Given the description of an element on the screen output the (x, y) to click on. 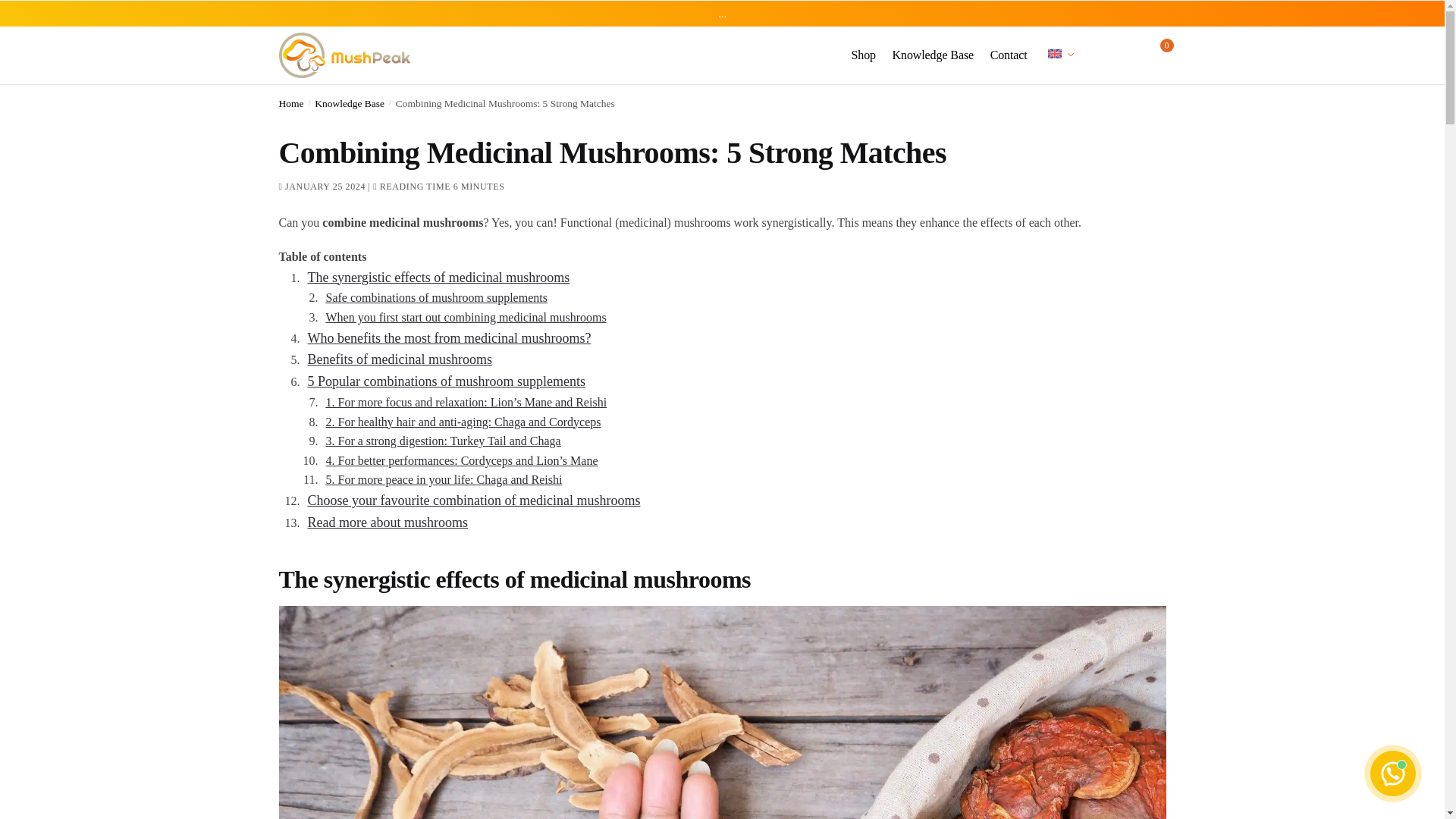
Safe combinations of mushroom supplements (436, 297)
Who benefits the most from medicinal mushrooms? (449, 337)
Knowledge Base (932, 54)
Home (291, 102)
5 Popular combinations of mushroom supplements (446, 381)
2. For healthy hair and anti-aging: Chaga and Cordyceps (463, 421)
Who benefits the most from medicinal mushrooms? (449, 337)
3. For a strong digestion: Turkey Tail and Chaga (443, 440)
My Account (1094, 55)
When you first start out combining medicinal mushrooms (466, 317)
